Given the description of an element on the screen output the (x, y) to click on. 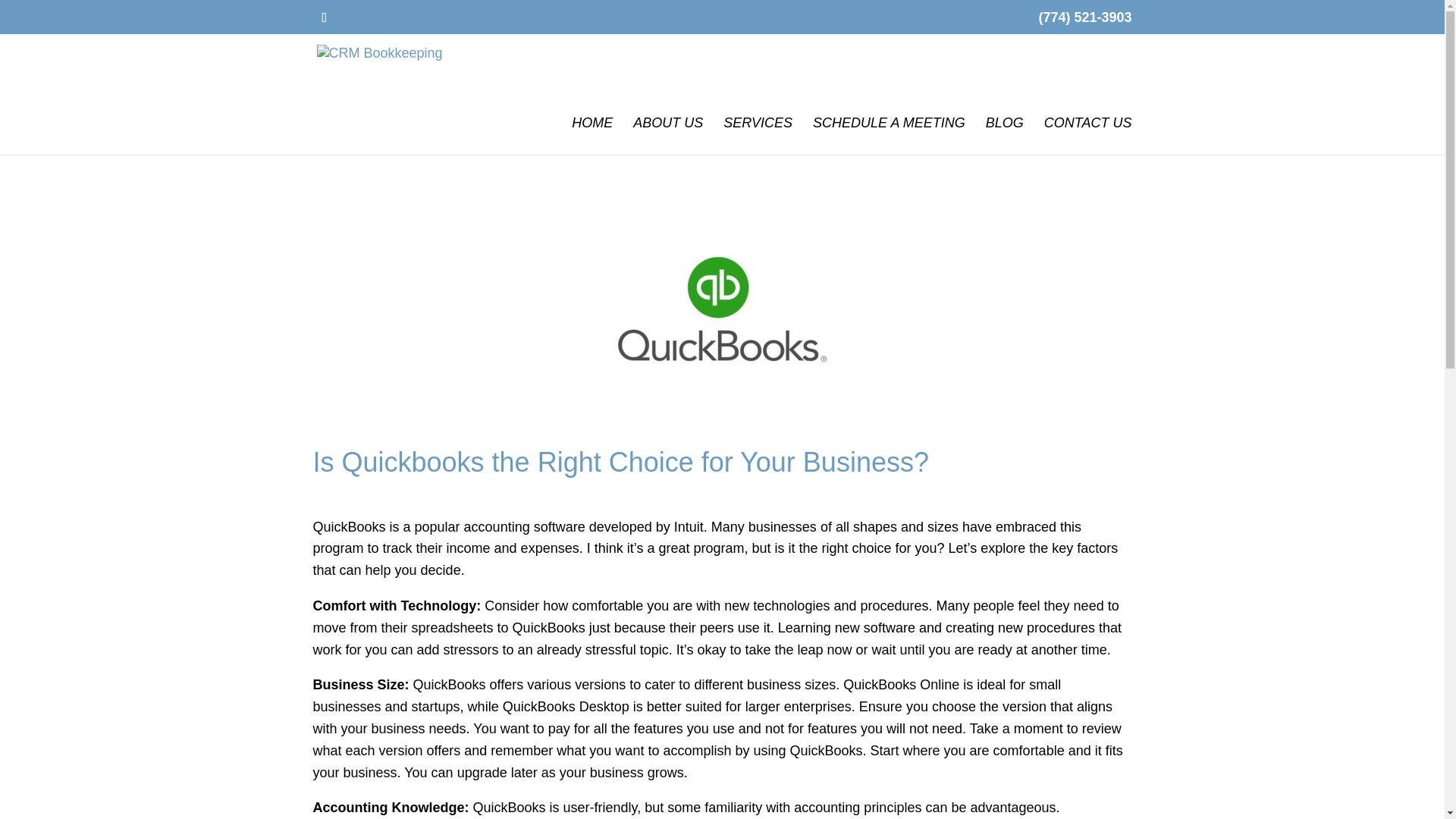
quickbooks-1 (721, 309)
SERVICES (757, 135)
CONTACT US (1087, 135)
ABOUT US (668, 135)
SCHEDULE A MEETING (888, 135)
HOME (592, 135)
BLOG (1004, 135)
